Given the description of an element on the screen output the (x, y) to click on. 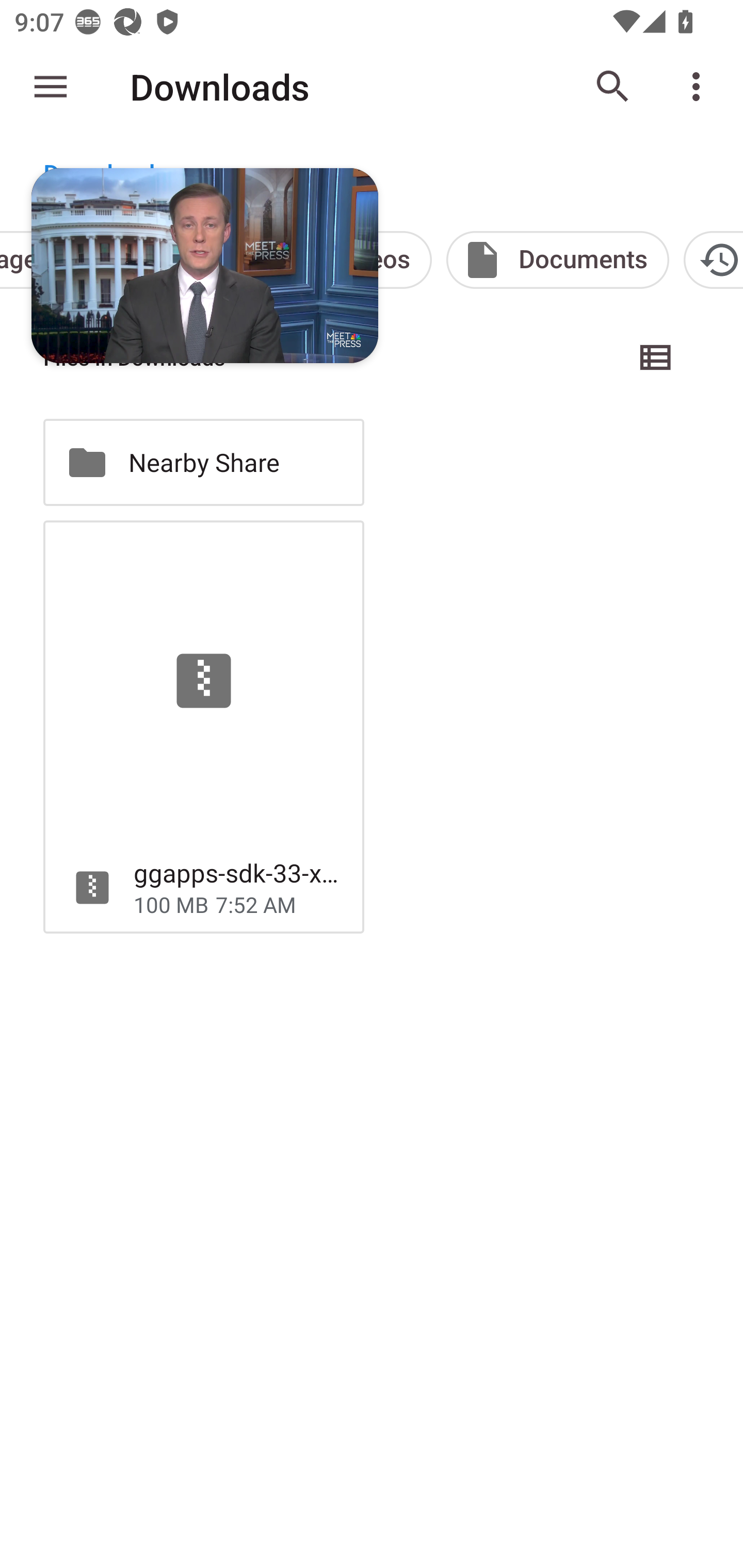
Show roots (50, 86)
Search (612, 86)
More options (699, 86)
Documents (557, 259)
List view (655, 357)
Nearby Share (203, 462)
ggapps-sdk-33-x86_64-20231003.zip 100 MB 7:52 AM (203, 726)
